Given the description of an element on the screen output the (x, y) to click on. 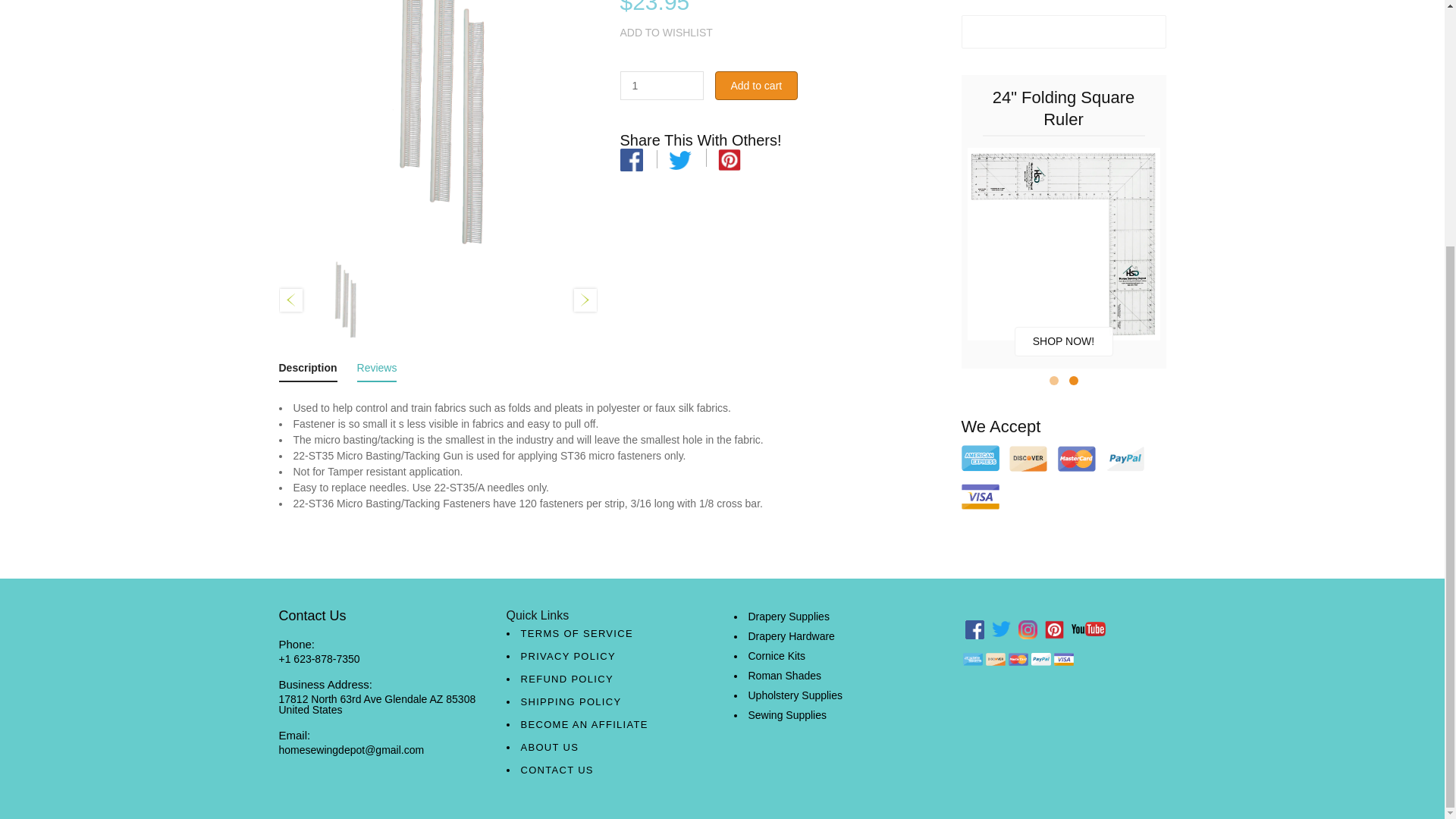
Tweet this (679, 159)
Facebook (631, 157)
Decrease (689, 91)
Share this on Facebook (631, 159)
1 (661, 85)
Increase (689, 79)
Twitter (679, 158)
Add to wishlist (666, 32)
